Given the description of an element on the screen output the (x, y) to click on. 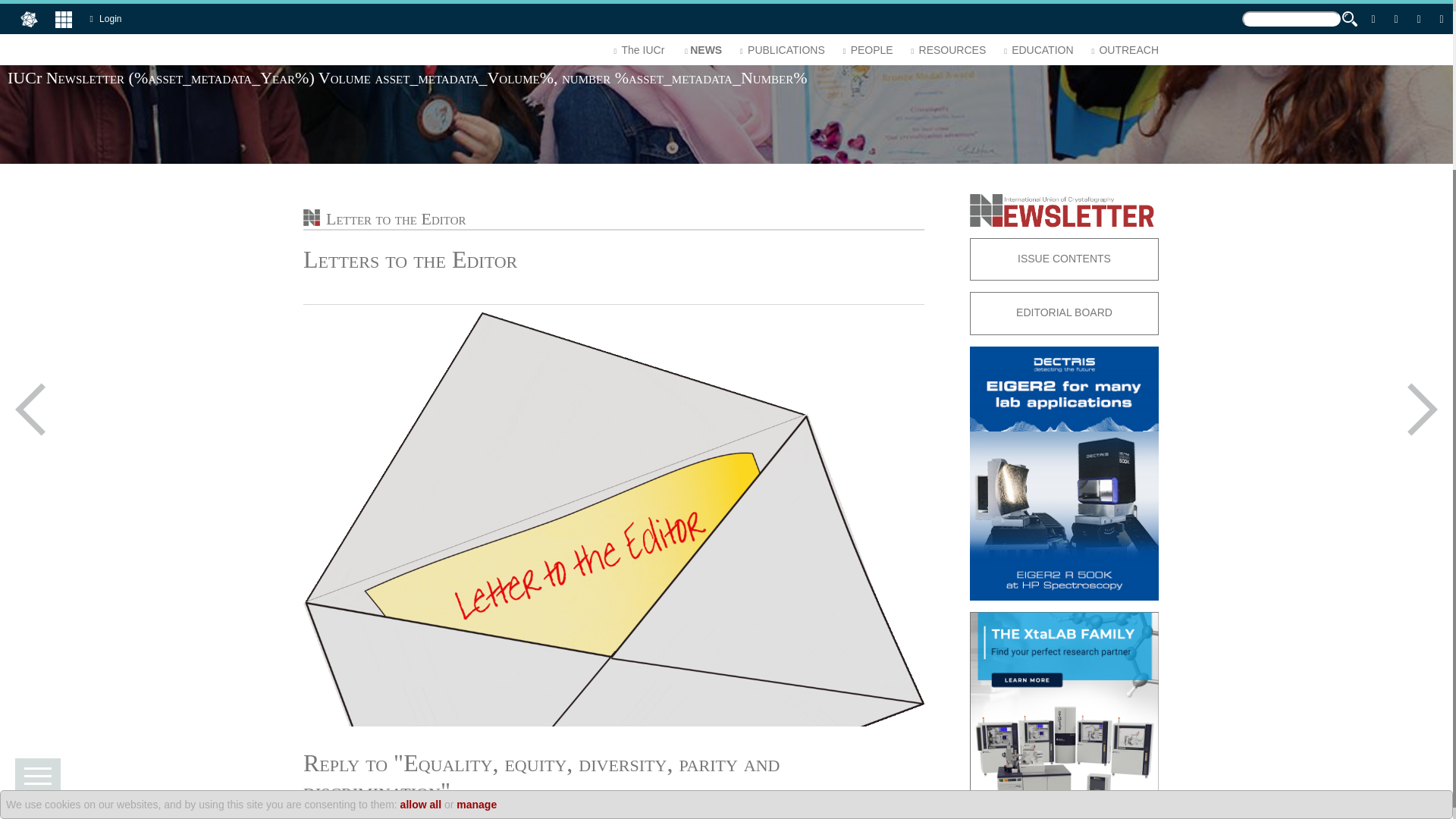
Login (109, 18)
The IUCr (636, 54)
Search (20, 7)
